Given the description of an element on the screen output the (x, y) to click on. 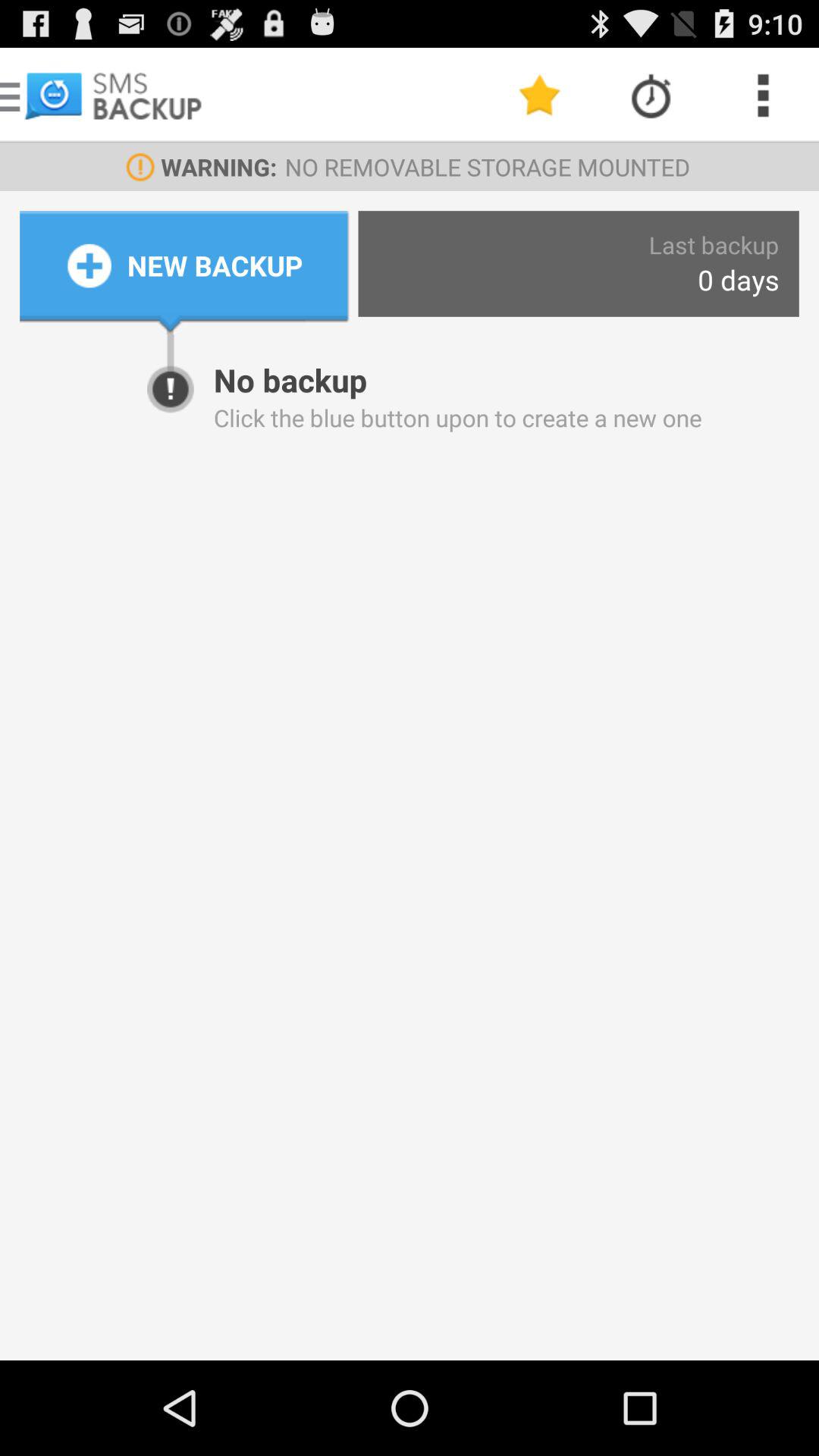
launch the last backup app (713, 244)
